Given the description of an element on the screen output the (x, y) to click on. 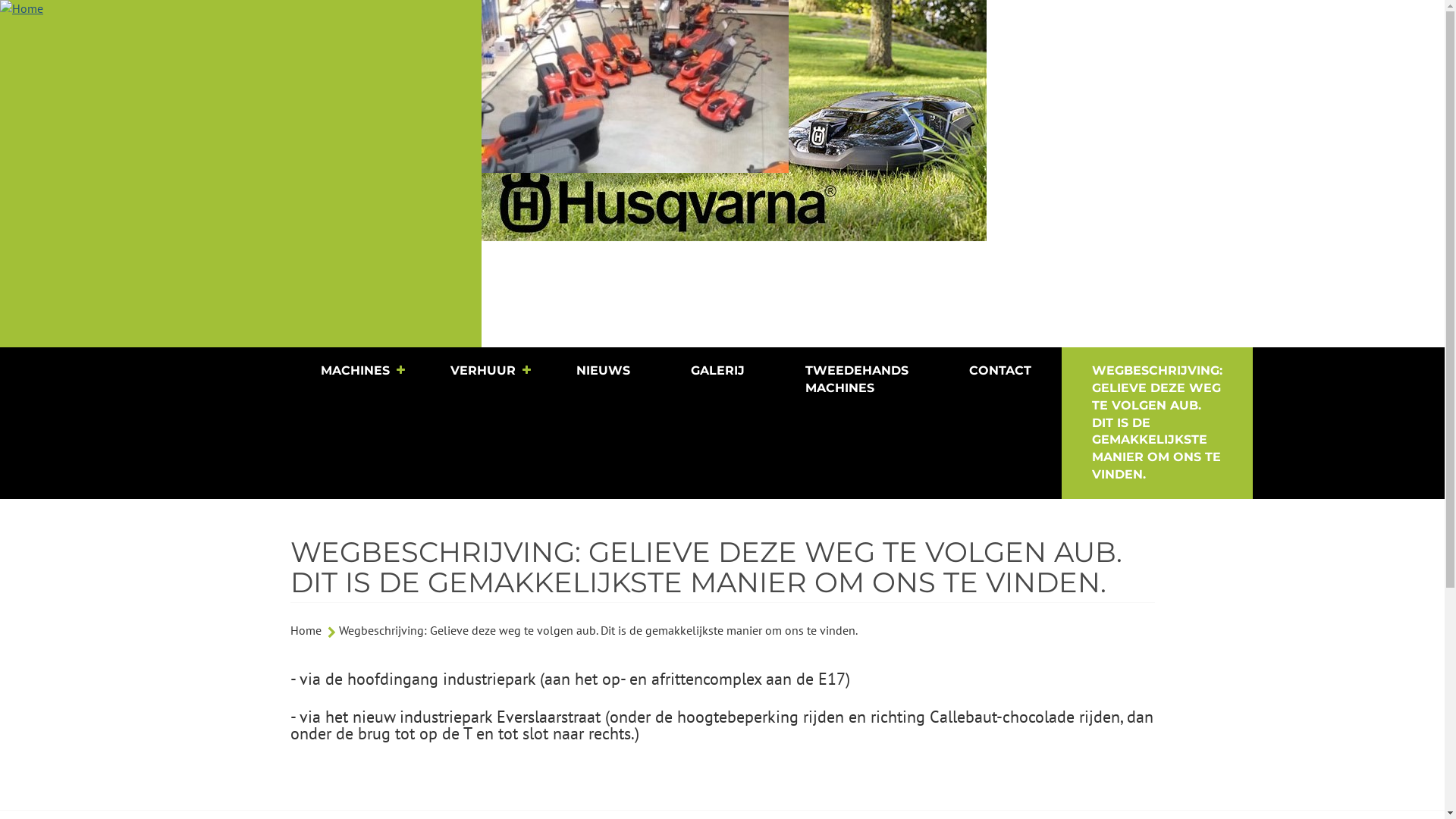
Home Element type: hover (240, 173)
NIEUWS Element type: text (603, 371)
MACHINES Element type: text (354, 371)
CONTACT Element type: text (999, 371)
TWEEDEHANDS MACHINES Element type: text (856, 379)
Overslaan en naar de inhoud gaan Element type: text (0, 0)
GALERIJ Element type: text (716, 371)
VERHUUR Element type: text (483, 371)
Home Element type: text (304, 629)
